Given the description of an element on the screen output the (x, y) to click on. 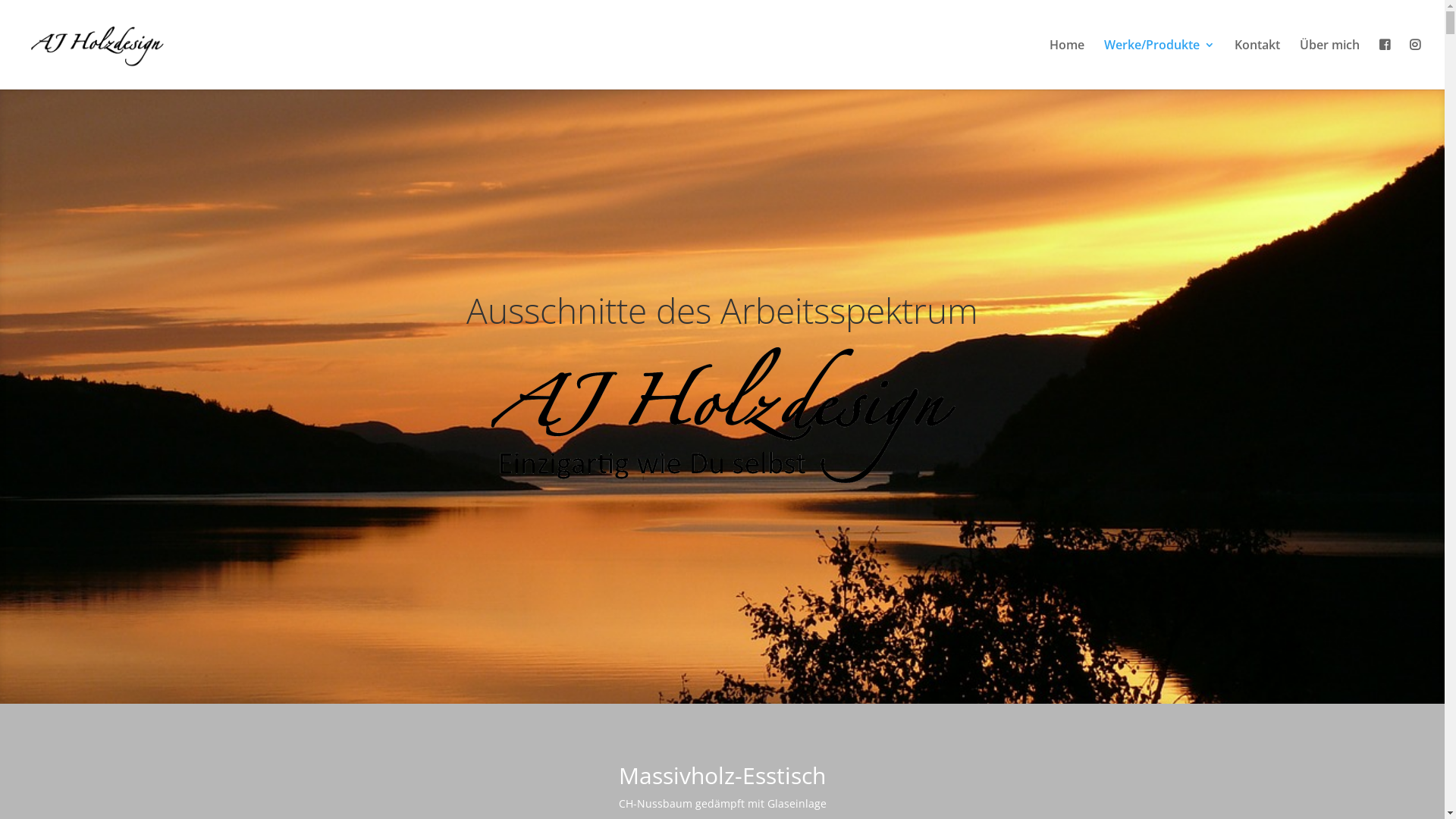
Home Element type: text (1066, 63)
Kontakt Element type: text (1257, 63)
Werke/Produkte Element type: text (1159, 63)
